Given the description of an element on the screen output the (x, y) to click on. 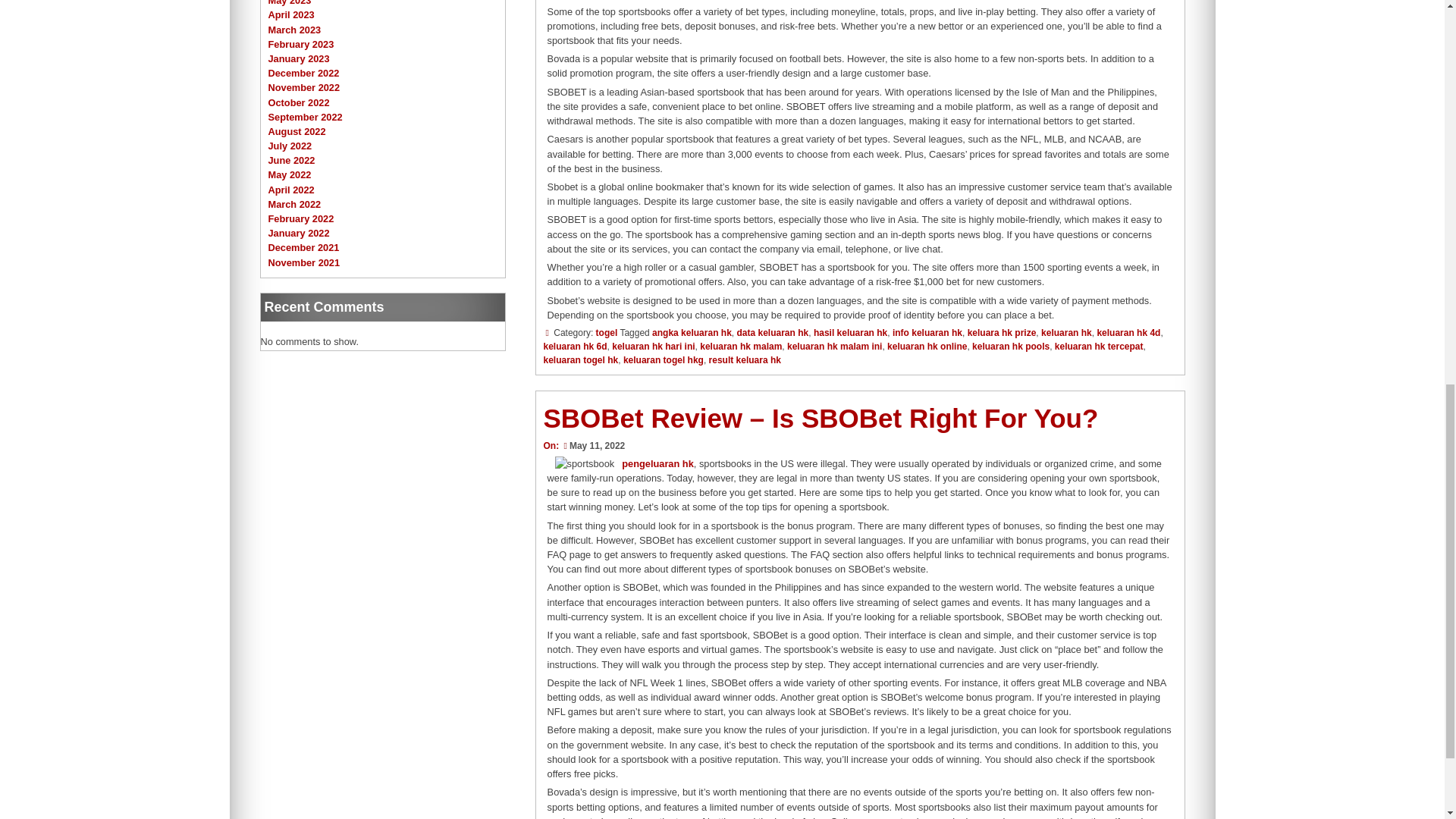
hasil keluaran hk (849, 332)
keluaran hk pools (1010, 346)
keluaran hk malam ini (834, 346)
keluaran hk online (926, 346)
togel (606, 332)
keluaran hk hari ini (652, 346)
keluaran hk (1066, 332)
keluaran hk 6d (575, 346)
keluaran hk 4d (1128, 332)
keluaran hk malam (740, 346)
angka keluaran hk (692, 332)
keluaran hk tercepat (1098, 346)
keluaran togel hkg (663, 359)
data keluaran hk (772, 332)
info keluaran hk (927, 332)
